Given the description of an element on the screen output the (x, y) to click on. 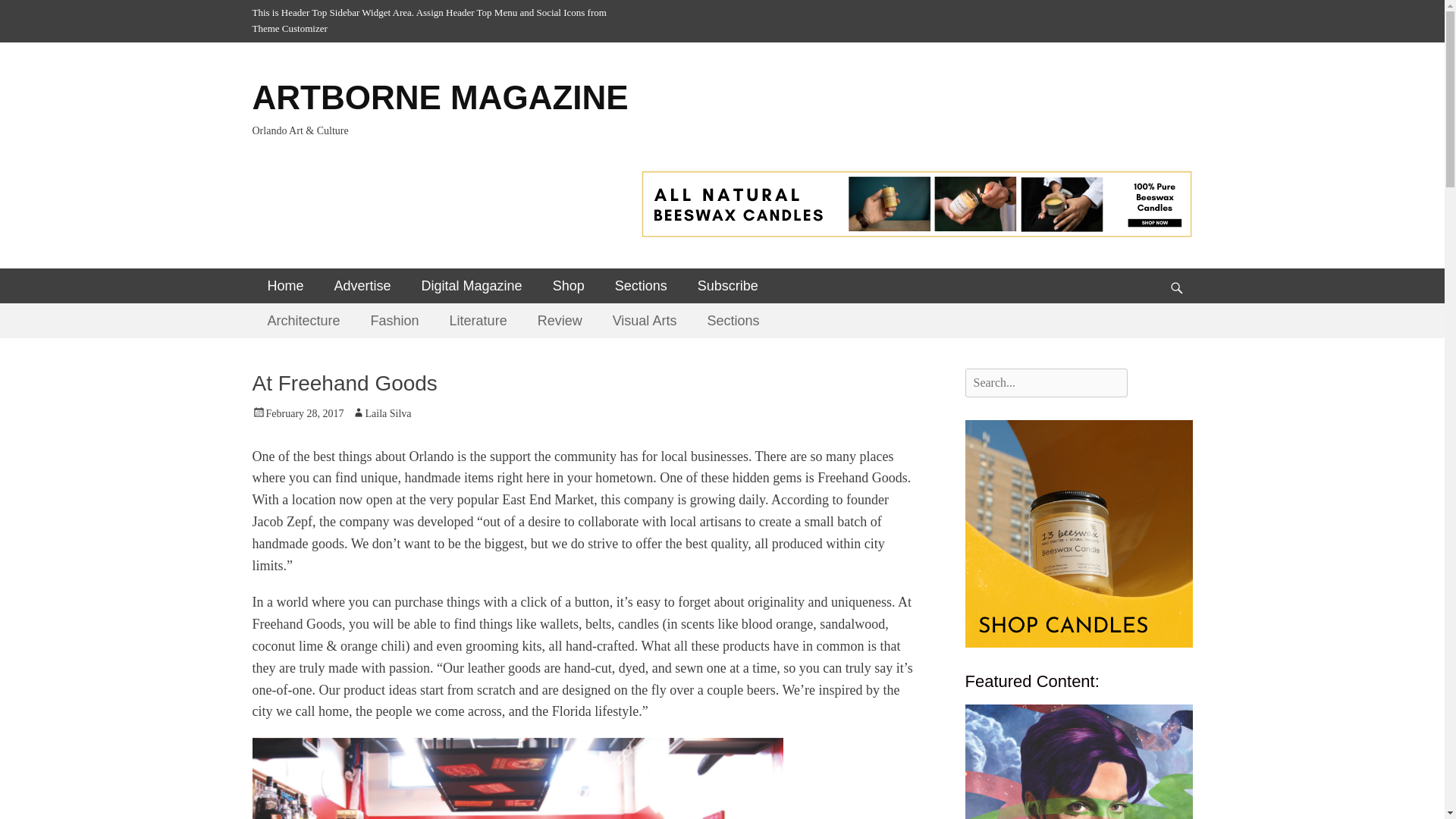
Search for: (1044, 382)
Review (559, 320)
Shop (568, 285)
Literature (477, 320)
Subscribe (727, 285)
Home (284, 285)
Advertise (362, 285)
February 28, 2017 (297, 413)
Fashion (394, 320)
Architecture (303, 320)
Sections (732, 320)
Digital Magazine (471, 285)
Sections (640, 285)
ARTBORNE MAGAZINE (439, 97)
